Given the description of an element on the screen output the (x, y) to click on. 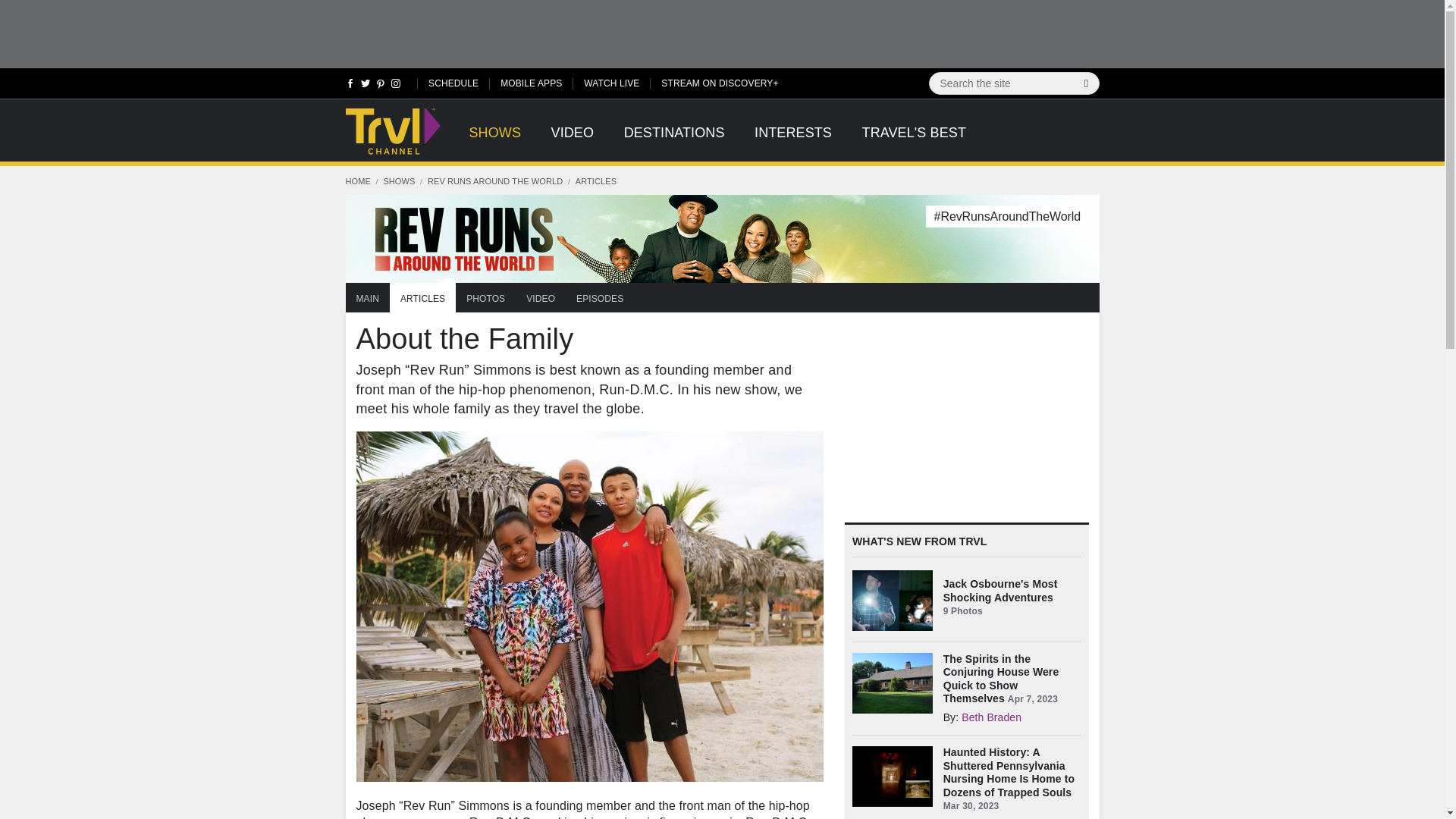
Follow us on Pinterest (380, 86)
Follow us on Twitter (365, 86)
Follow us on Instagram (394, 86)
Follow us on Facebook (350, 86)
SCHEDULE (453, 81)
SHOWS (494, 140)
WATCH LIVE (611, 81)
MOBILE APPS (531, 81)
